Given the description of an element on the screen output the (x, y) to click on. 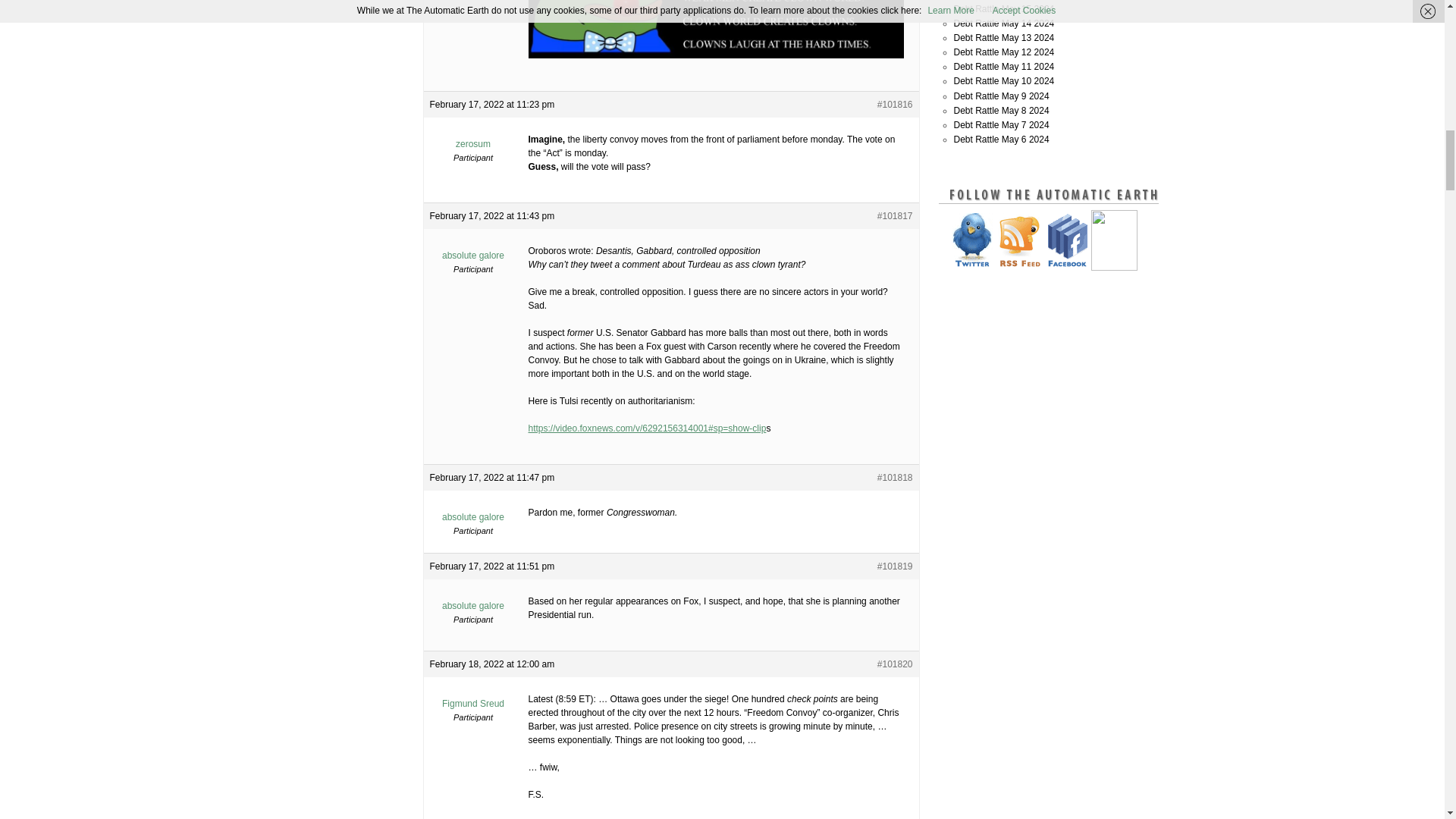
View Figmund Sreud's profile (472, 697)
View absolute galore's profile (472, 510)
View absolute galore's profile (472, 599)
absolute galore (472, 249)
View absolute galore's profile (472, 249)
View zerosum's profile (472, 137)
zerosum (472, 137)
